Given the description of an element on the screen output the (x, y) to click on. 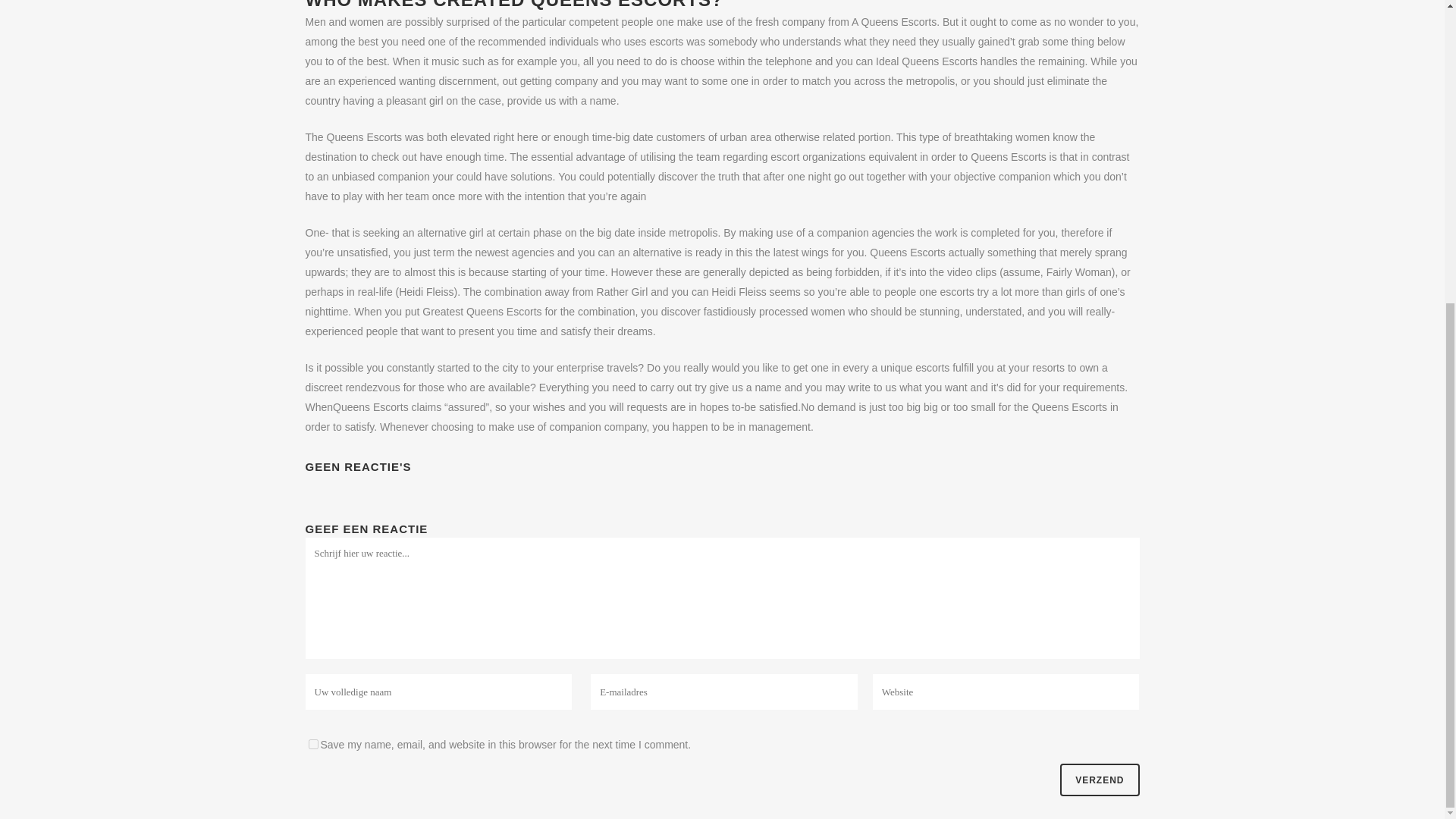
yes (312, 744)
Verzend (1098, 779)
Verzend (1098, 779)
